Given the description of an element on the screen output the (x, y) to click on. 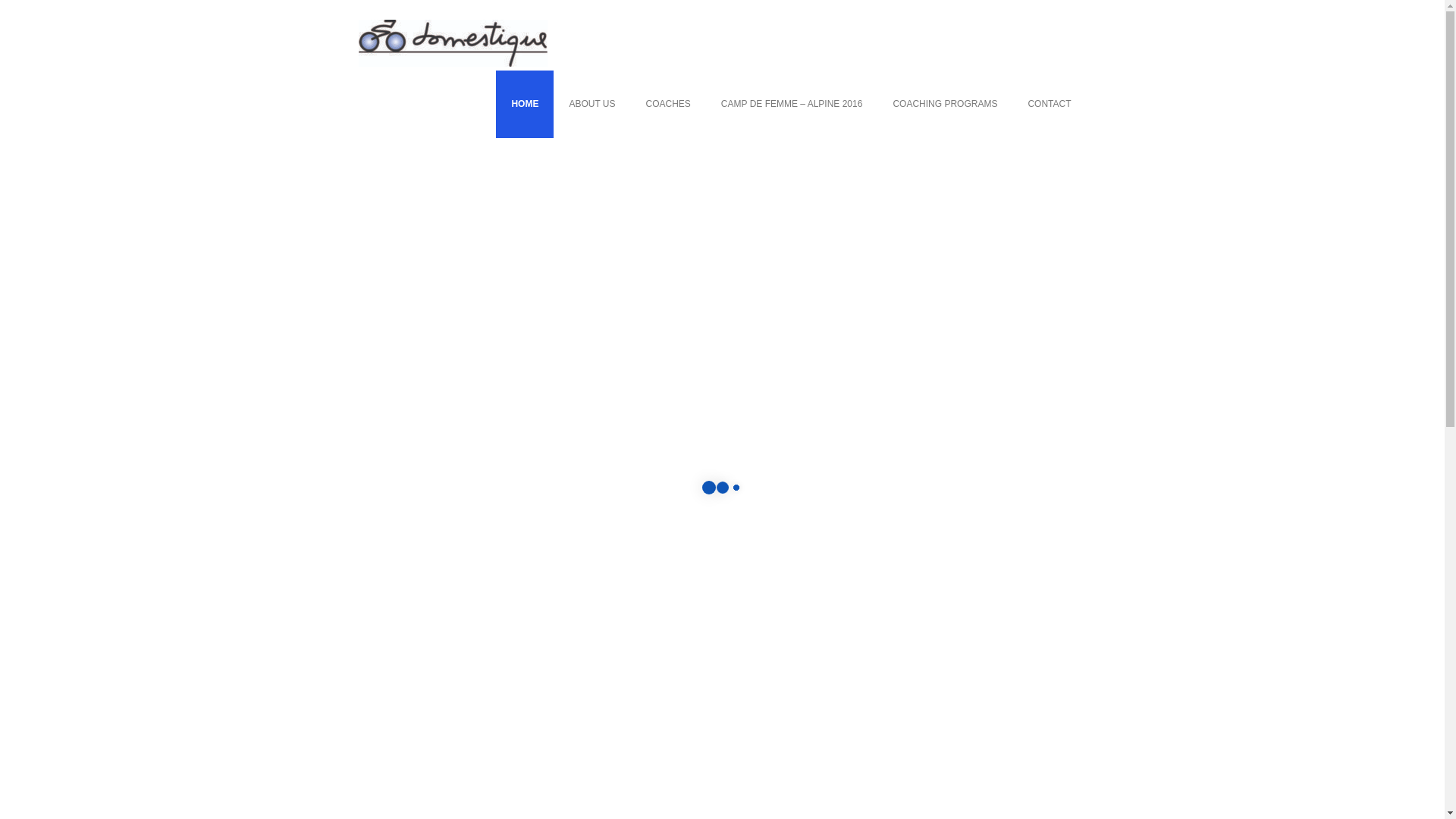
COACHING PROGRAMS Element type: text (944, 104)
ABOUT US Element type: text (591, 104)
COACHES Element type: text (668, 104)
CONTACT Element type: text (1048, 104)
HOME Element type: text (524, 104)
